Given the description of an element on the screen output the (x, y) to click on. 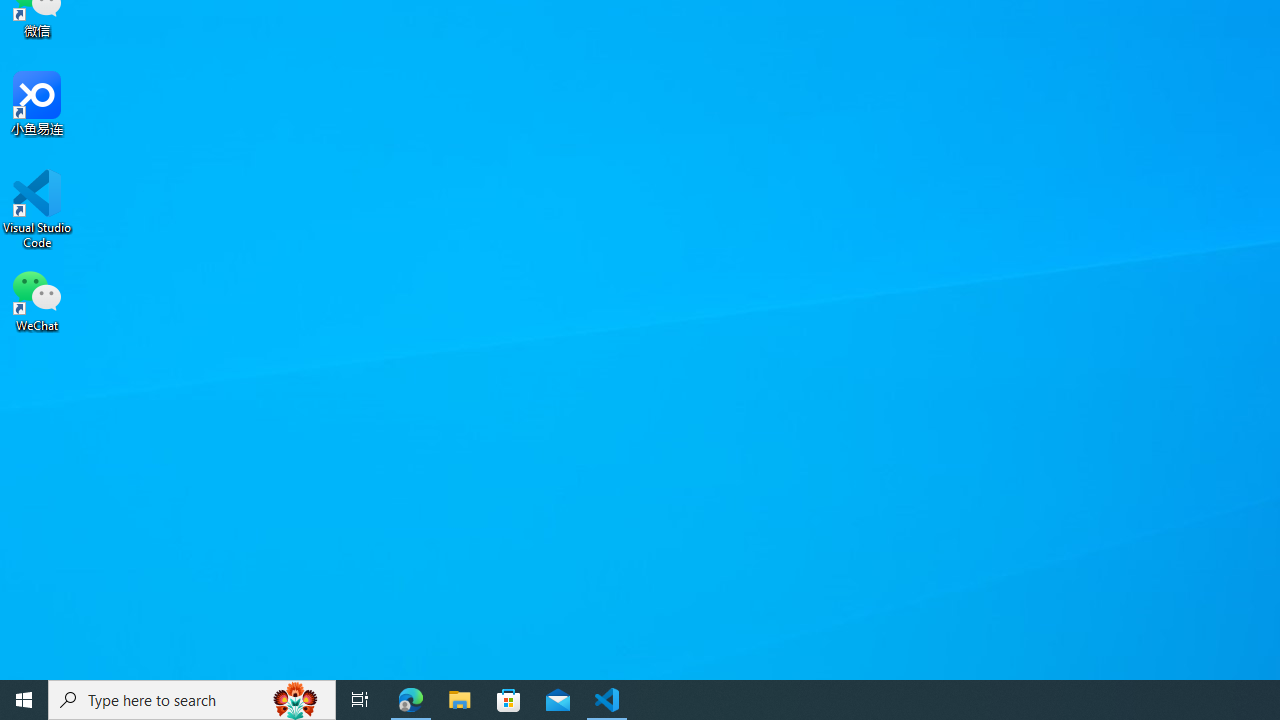
Task View (359, 699)
WeChat (37, 299)
Microsoft Edge - 1 running window (411, 699)
Type here to search (191, 699)
Visual Studio Code - 1 running window (607, 699)
Start (24, 699)
Visual Studio Code (37, 209)
Search highlights icon opens search home window (295, 699)
File Explorer (460, 699)
Microsoft Store (509, 699)
